Given the description of an element on the screen output the (x, y) to click on. 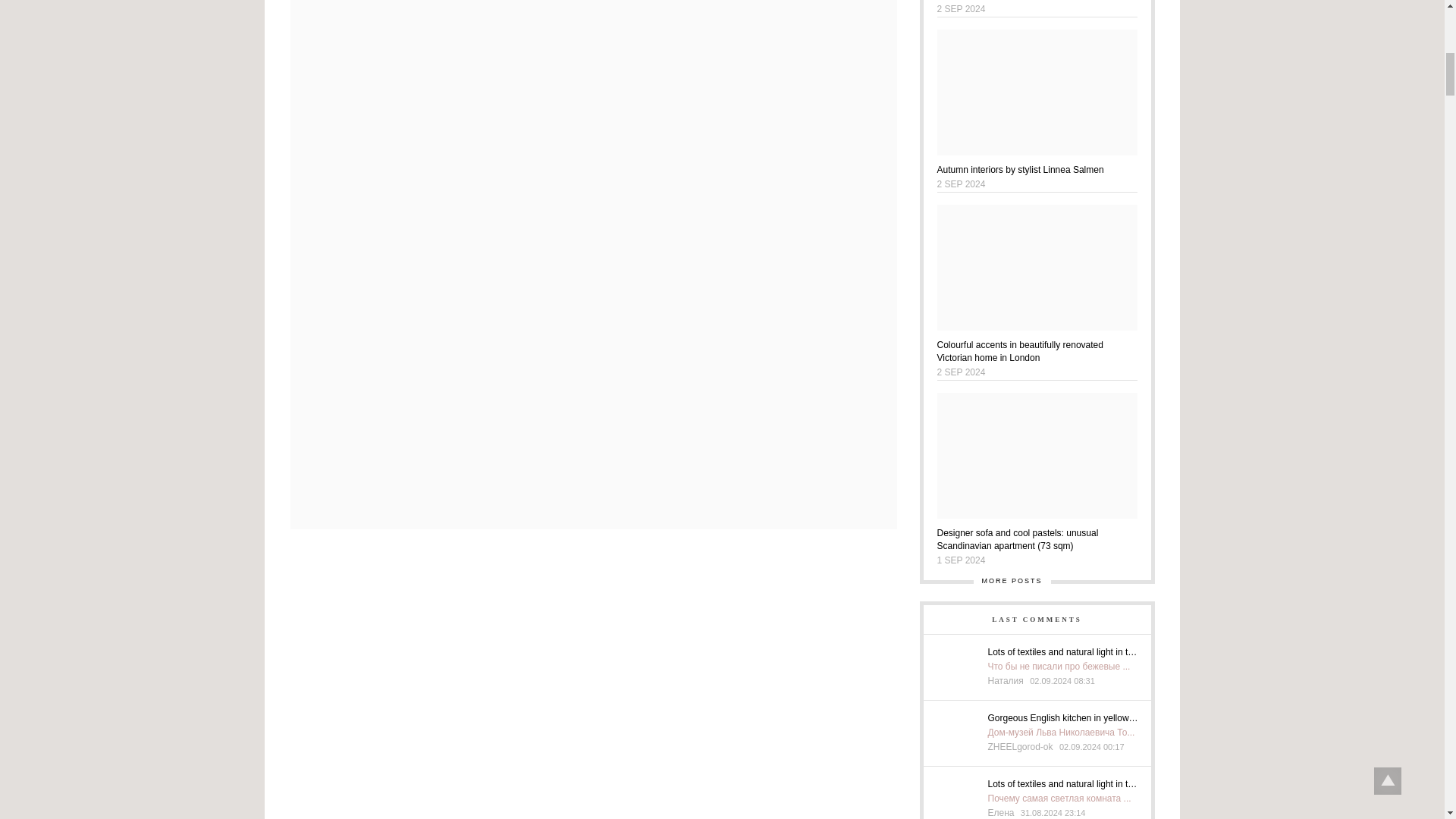
Autumn interiors by stylist Linnea Salmen (1037, 168)
